Given the description of an element on the screen output the (x, y) to click on. 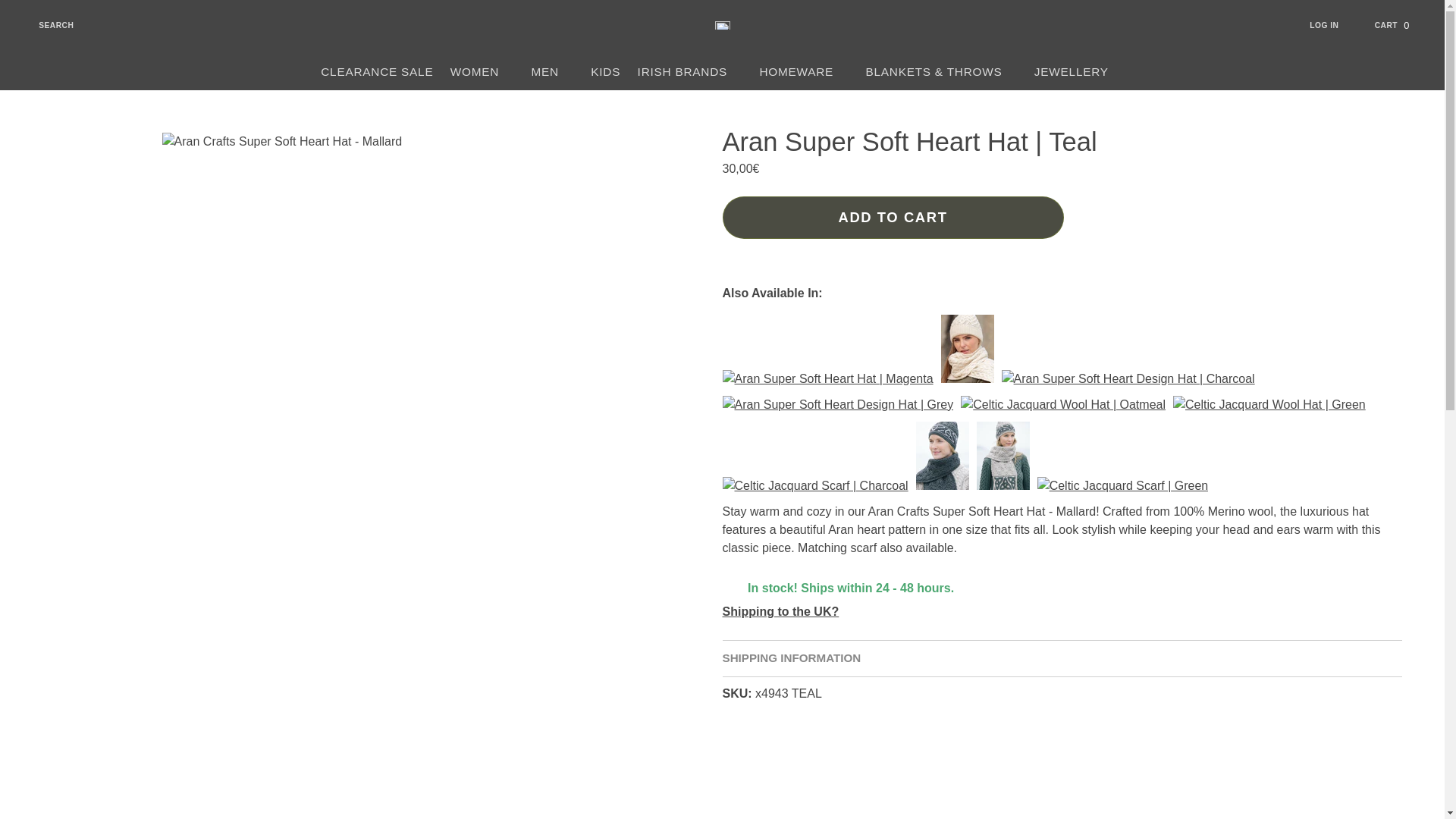
SEARCH (45, 25)
LOG IN (1333, 25)
IRISH BRANDS (689, 71)
MEN (1400, 25)
KIDS (552, 71)
CLEARANCE SALE (605, 71)
WOMEN (377, 71)
